Given the description of an element on the screen output the (x, y) to click on. 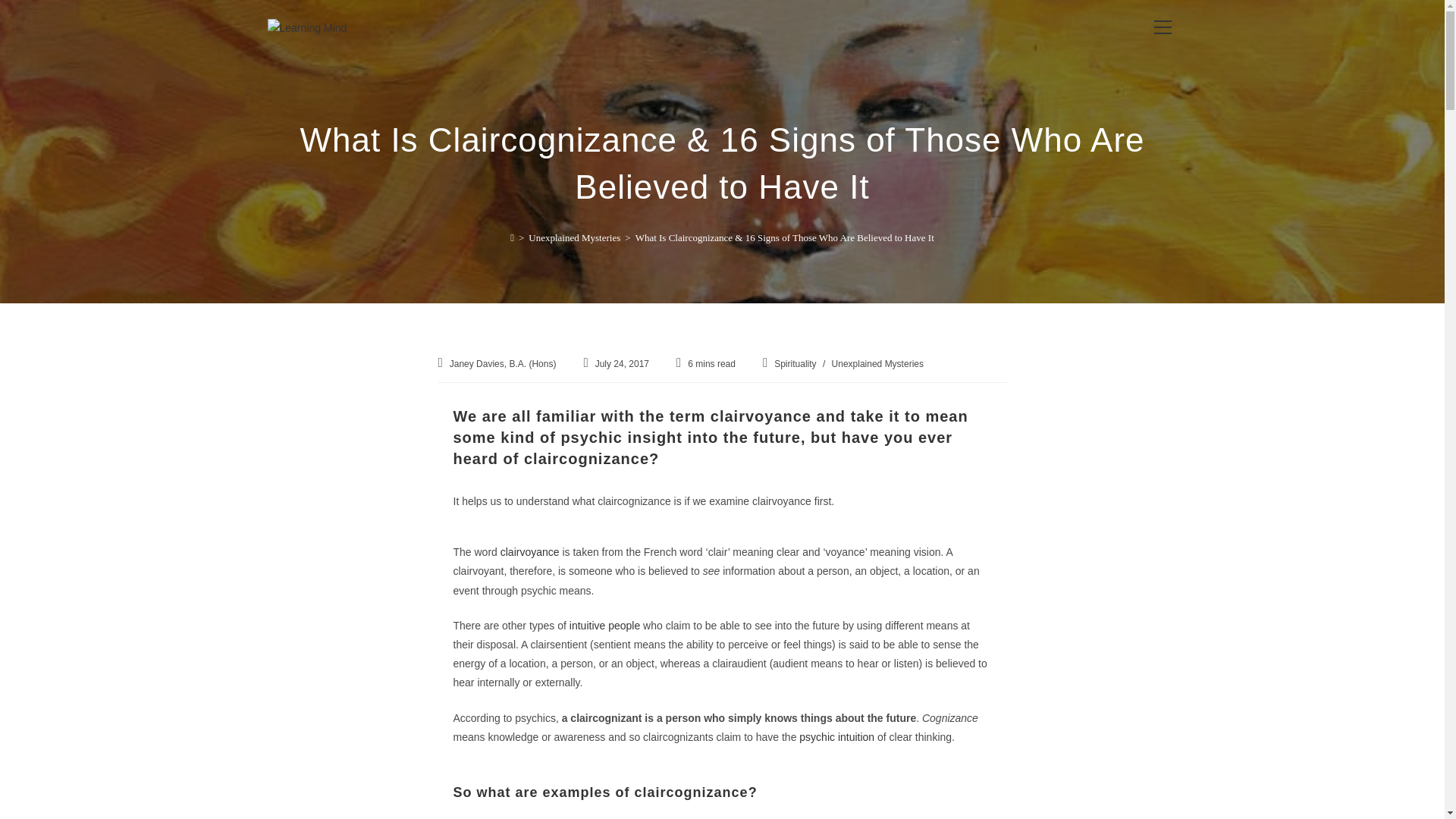
Unexplained Mysteries (877, 363)
Spirituality (794, 363)
View website Menu (1162, 27)
Unexplained Mysteries (574, 237)
